Given the description of an element on the screen output the (x, y) to click on. 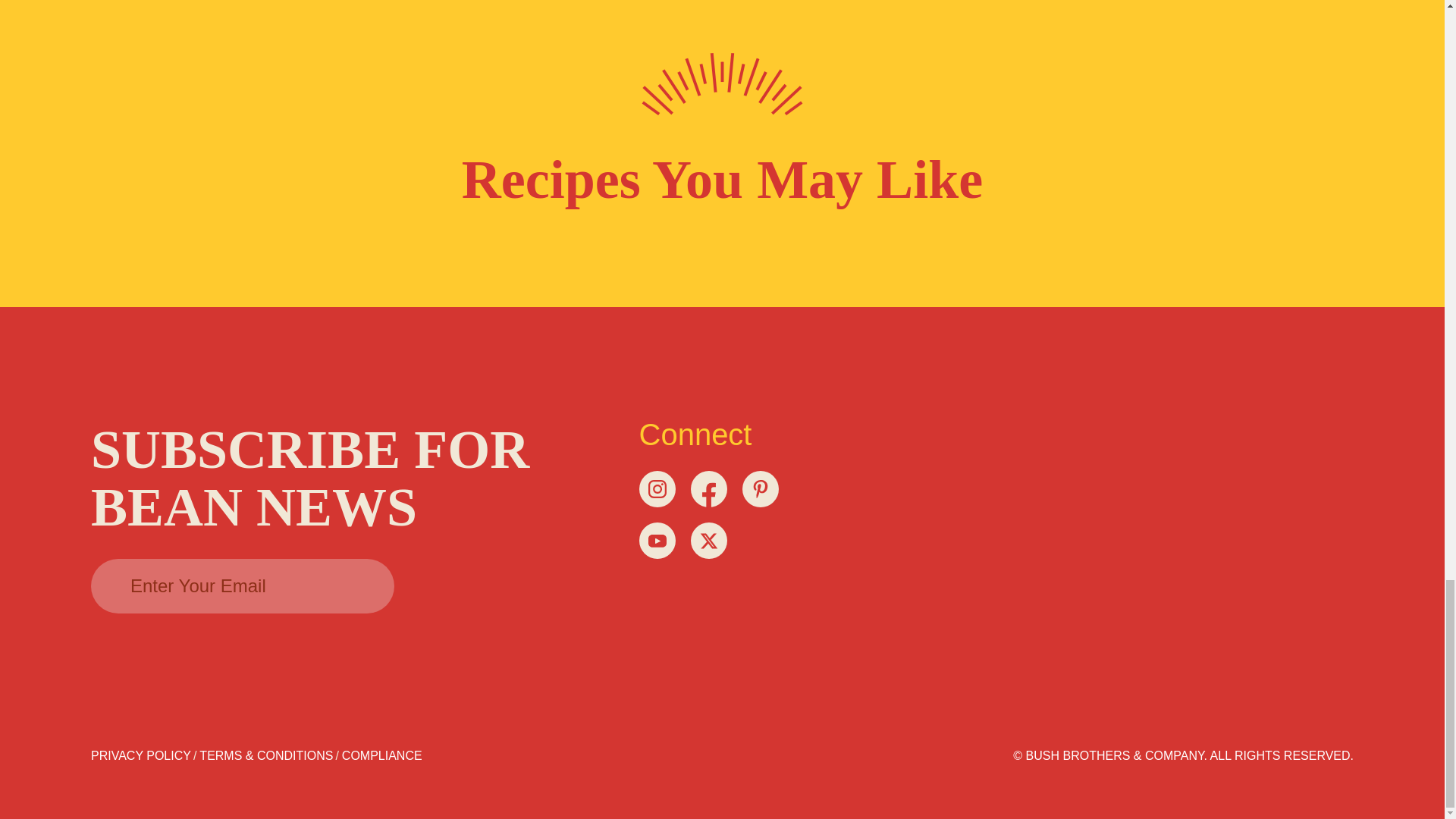
Twitter (708, 540)
Pinterest (759, 488)
COMPLIANCE (382, 755)
Instagram (657, 488)
PRIVACY POLICY (140, 755)
Facebook (708, 488)
YouTube (657, 540)
